Given the description of an element on the screen output the (x, y) to click on. 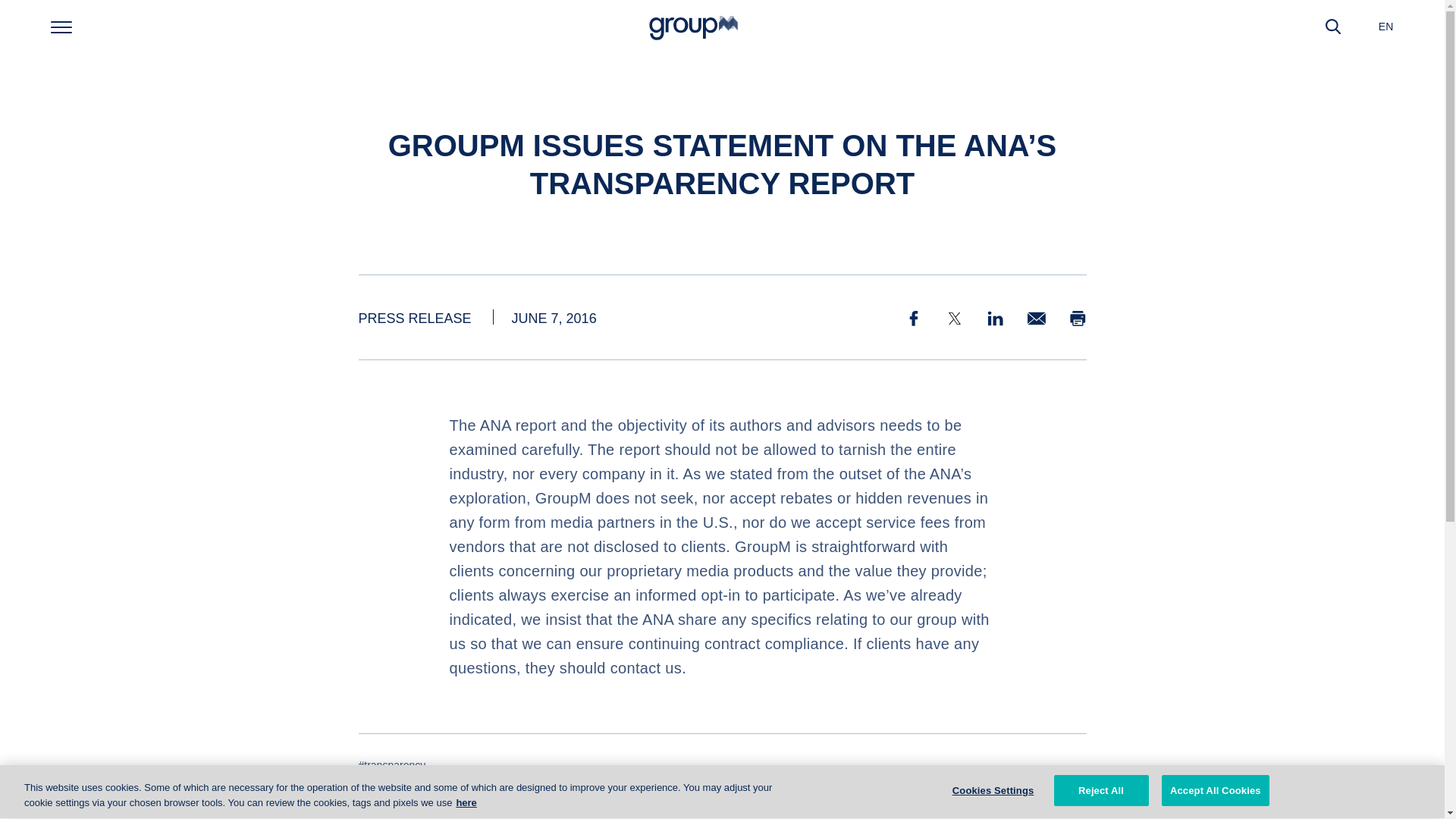
EN (1385, 26)
PRESS RELEASE (414, 318)
